Given the description of an element on the screen output the (x, y) to click on. 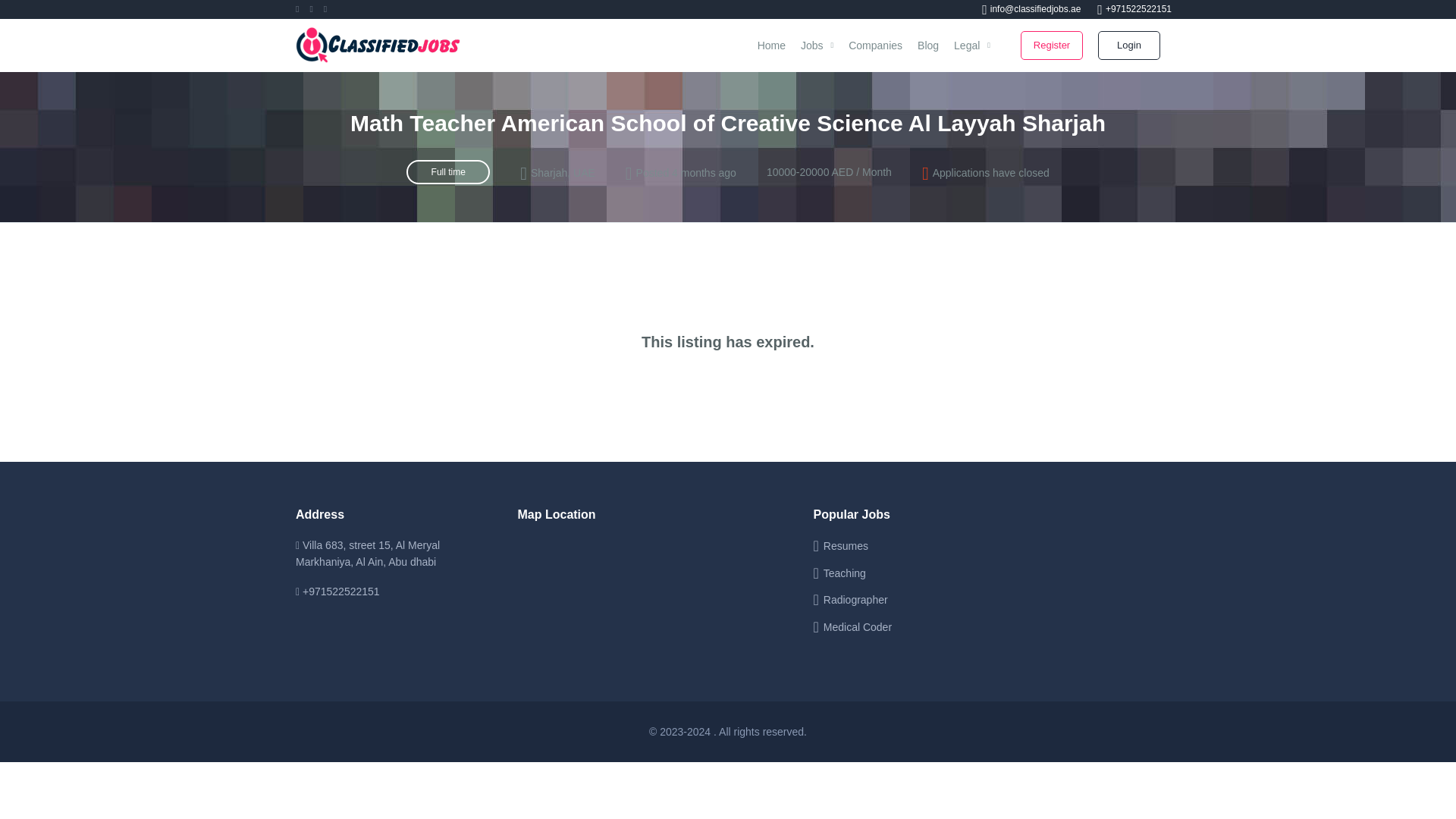
Companies (875, 45)
Home (771, 45)
Legal (971, 45)
Jobs (817, 45)
Blog (928, 45)
Login (1128, 45)
Register (1051, 45)
